Given the description of an element on the screen output the (x, y) to click on. 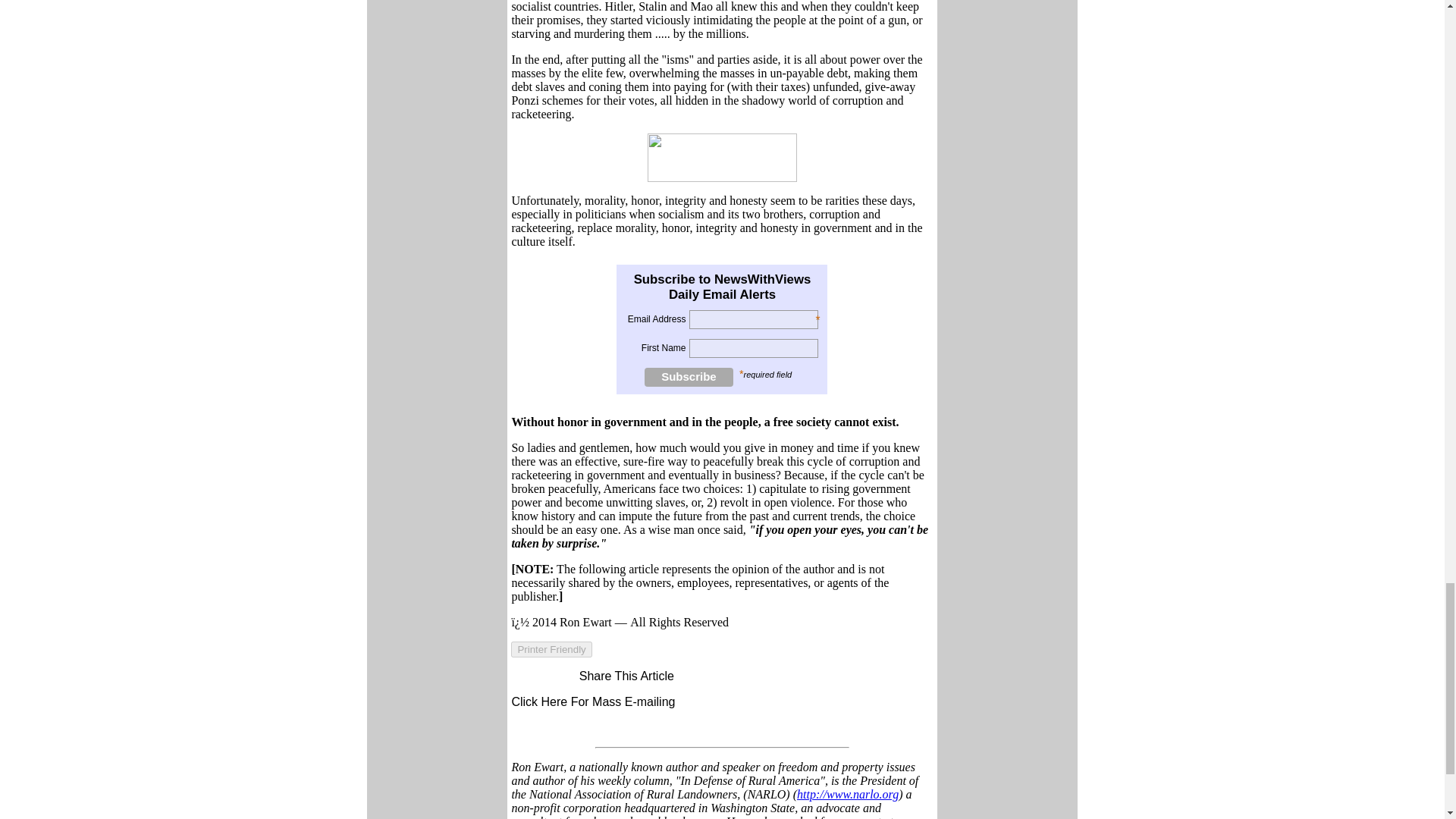
Subscribe (689, 376)
Subscribe (689, 376)
Share This Article (619, 675)
Printer Friendly (551, 649)
Click Here For Mass E-mailing (593, 701)
